Given the description of an element on the screen output the (x, y) to click on. 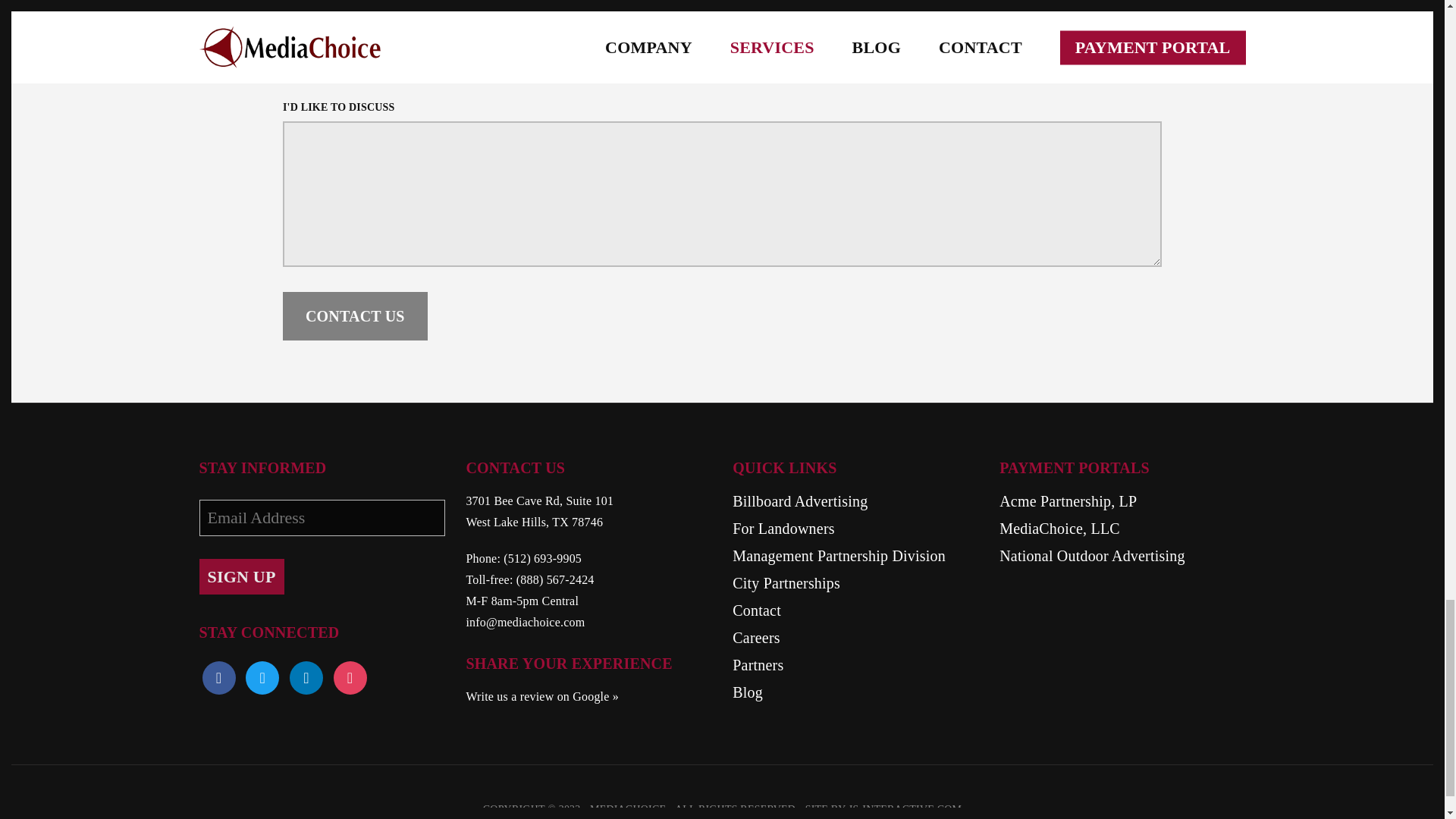
Blog (855, 691)
City Partnerships (855, 582)
Partners (855, 664)
Instagram (306, 677)
Contact (855, 609)
Twitter (262, 677)
SIGN UP (240, 576)
National Outdoor Advertising (1121, 555)
Partners (855, 664)
Contact Us (355, 315)
